Given the description of an element on the screen output the (x, y) to click on. 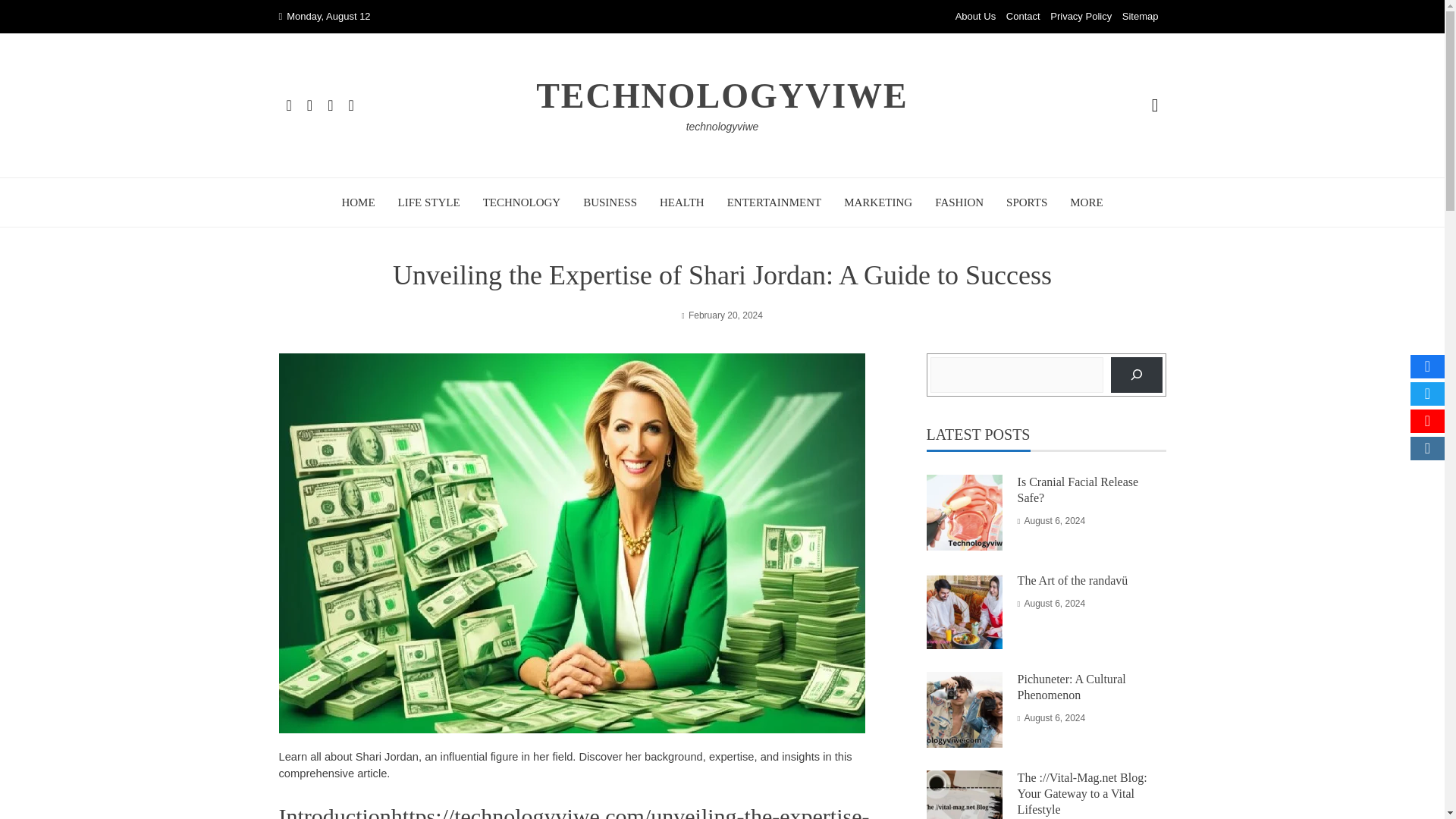
ENTERTAINMENT (774, 202)
MORE (1086, 202)
TECHNOLOGYVIWE (721, 95)
About Us (975, 16)
SPORTS (1026, 202)
TECHNOLOGY (521, 202)
Sitemap (1140, 16)
BUSINESS (610, 202)
Contact (1023, 16)
LIFE STYLE (428, 202)
